Given the description of an element on the screen output the (x, y) to click on. 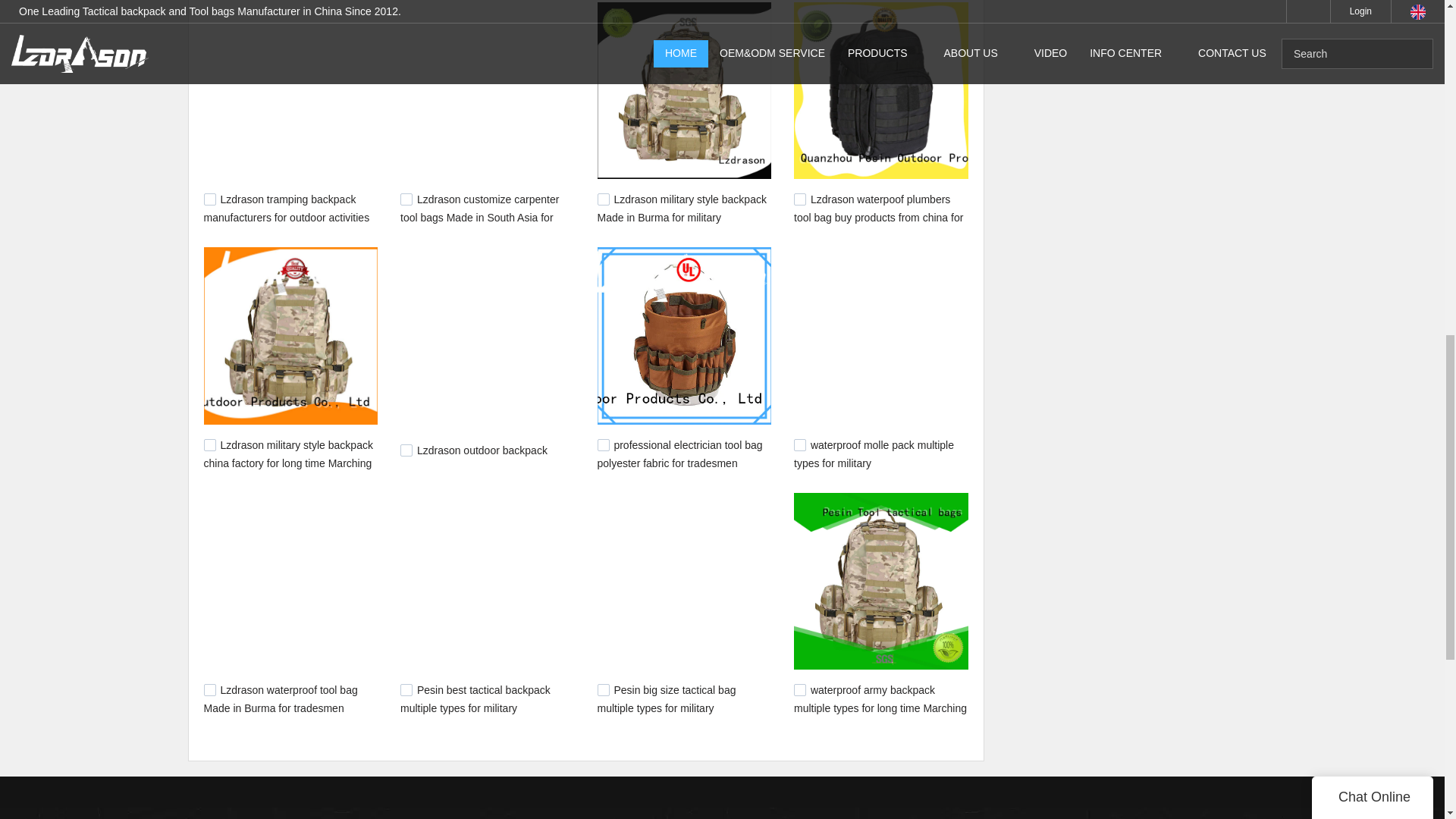
696 (799, 689)
Lzdrason outdoor backpack (481, 450)
5996 (209, 199)
2610 (209, 444)
2603 (406, 450)
Lzdrason military style backpack Made in Burma for military (681, 208)
